Given the description of an element on the screen output the (x, y) to click on. 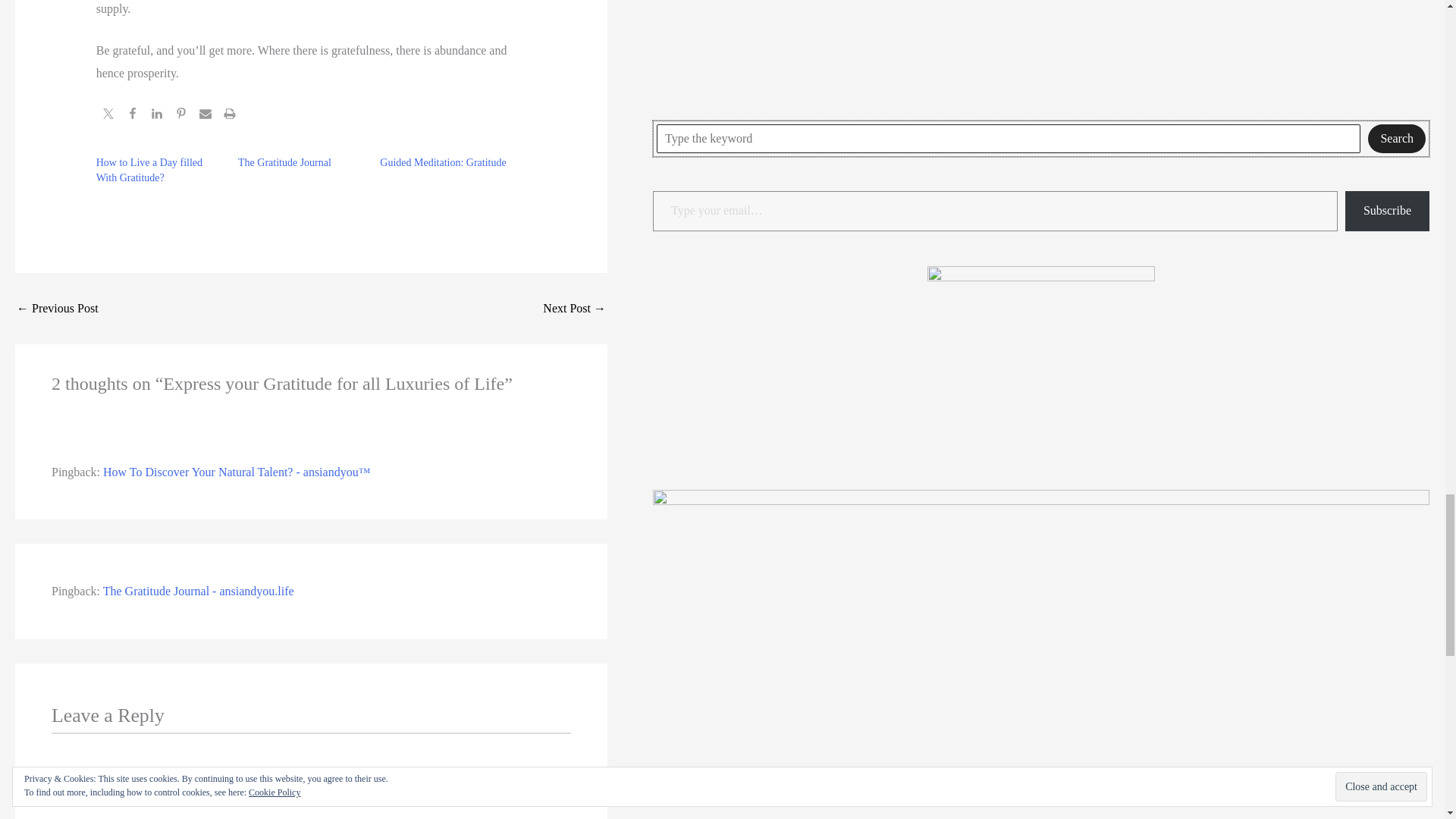
Share on Facebook (132, 115)
How to Discover your Natural Talent? (574, 308)
Share on Twitter (108, 115)
Guided Meditation: Gratitude (442, 162)
Guided Meditation: Gratitude (442, 162)
How to Live a Day filled With Gratitude? (149, 170)
The Gratitude Journal (284, 162)
Share on LinkedIn (156, 115)
Share via Email (204, 115)
The Subject I Teach Is Life (57, 308)
